Given the description of an element on the screen output the (x, y) to click on. 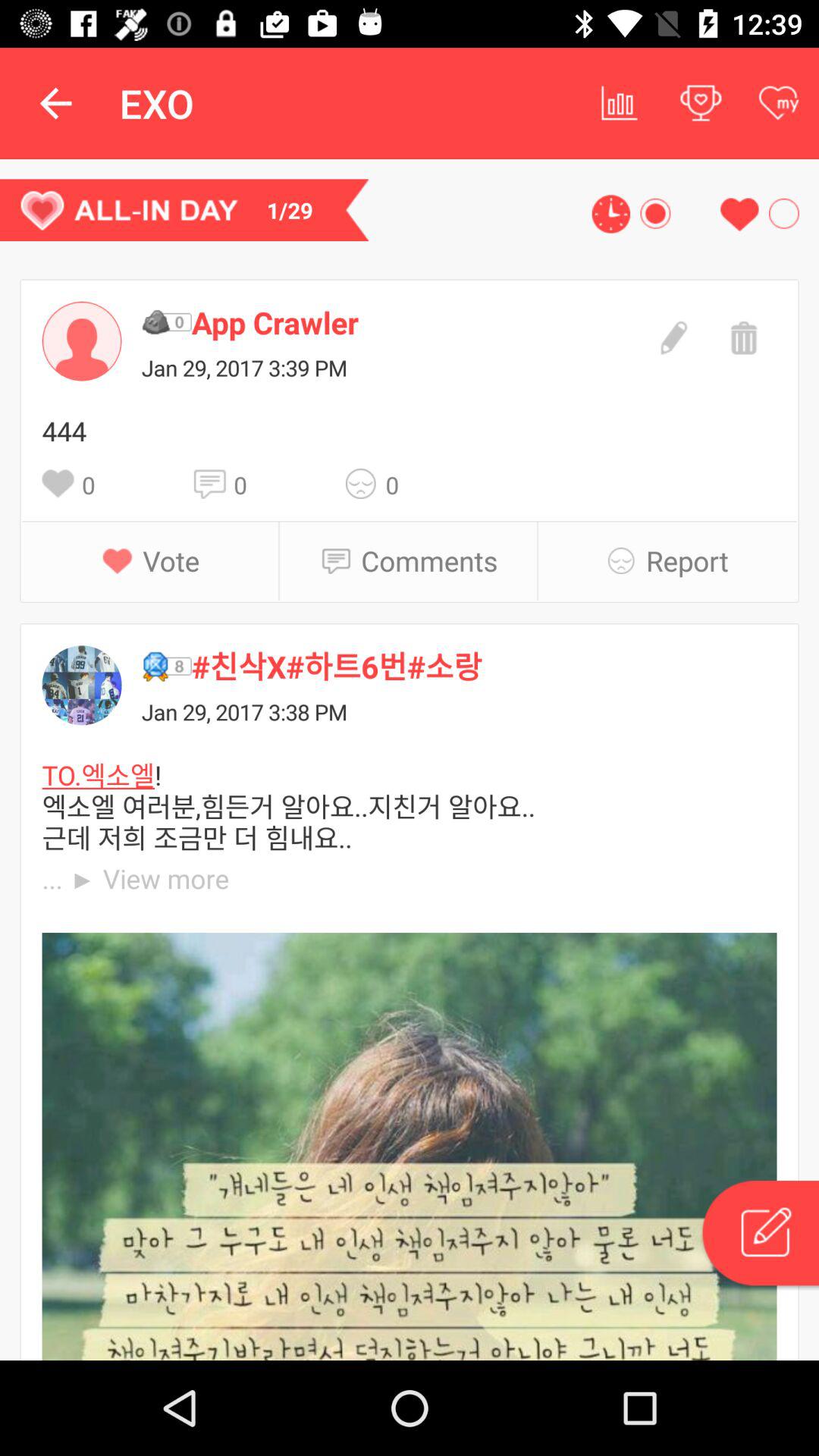
choose icon to the right of the comments icon (626, 560)
